Given the description of an element on the screen output the (x, y) to click on. 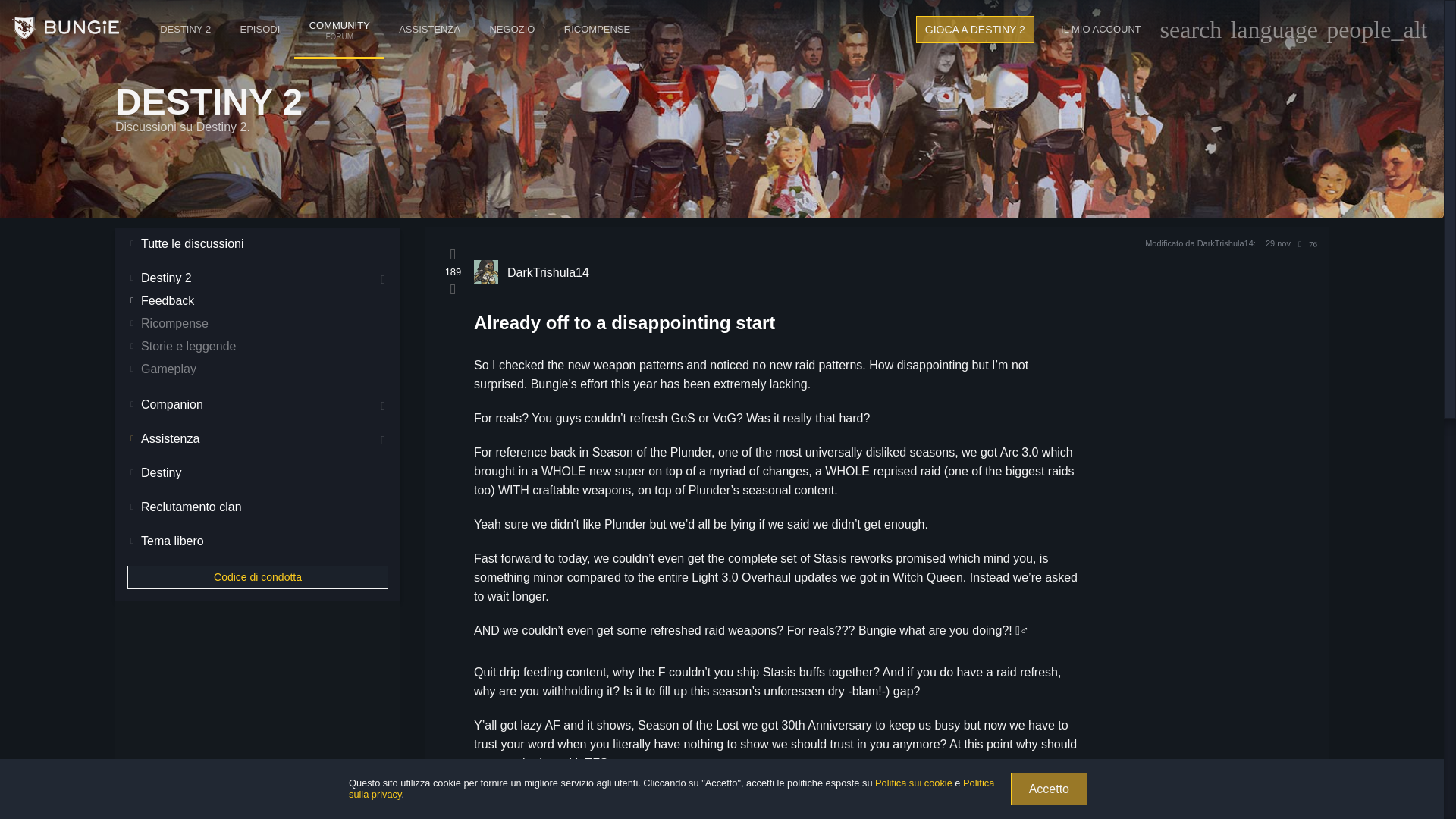
DESTINY 2 (185, 29)
Destiny (65, 29)
RICOMPENSE (597, 29)
Mi piace (453, 252)
EPISODI (339, 13)
GIOCA A DESTINY 2 (259, 29)
Non mi piace (974, 29)
IL MIO ACCOUNT (452, 290)
NEGOZIO (1101, 29)
ASSISTENZA (511, 29)
